Given the description of an element on the screen output the (x, y) to click on. 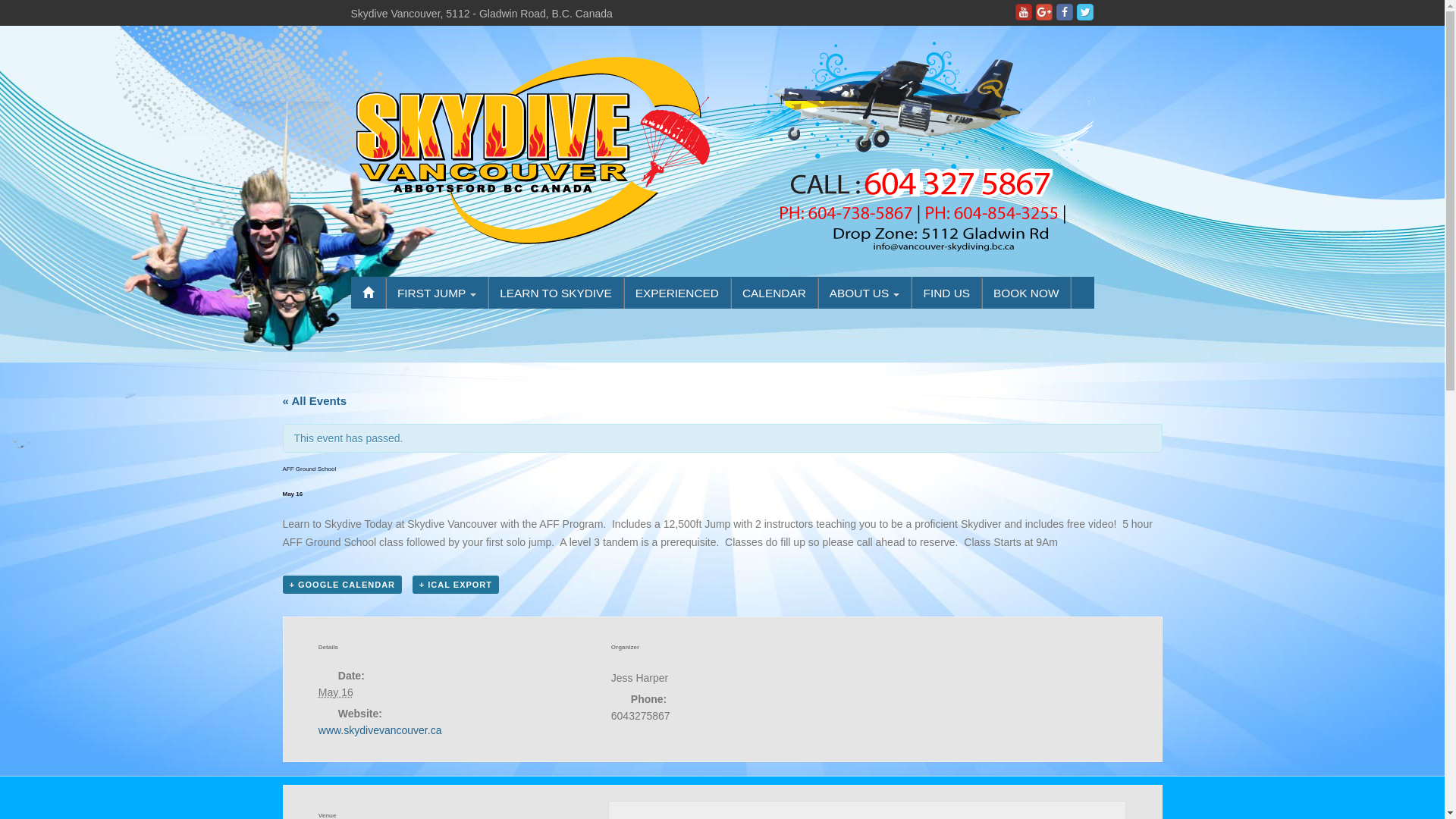
Skydive Vancouver - Tandem Skydiving Vancouver Facebook Element type: hover (1064, 11)
Skydive Vancouver - Tandem Skydiving Vancouver Googleplus Element type: hover (1043, 11)
CALENDAR Element type: text (774, 292)
+ ICAL EXPORT Element type: text (455, 584)
LEARN TO SKYDIVE Element type: text (555, 292)
BOOK NOW Element type: text (1026, 292)
FIRST JUMP Element type: text (436, 292)
EXPERIENCED Element type: text (677, 292)
ABOUT US Element type: text (864, 292)
Skydive Vancouver - Tandem Skydiving Vancouver Twitter Element type: hover (1084, 11)
FIND US Element type: text (946, 292)
Skydive Vancouver - Tandem Skydiving Vancouver Youtube Element type: hover (1023, 11)
www.skydivevancouver.ca Element type: text (380, 730)
+ GOOGLE CALENDAR Element type: text (341, 584)
